Given the description of an element on the screen output the (x, y) to click on. 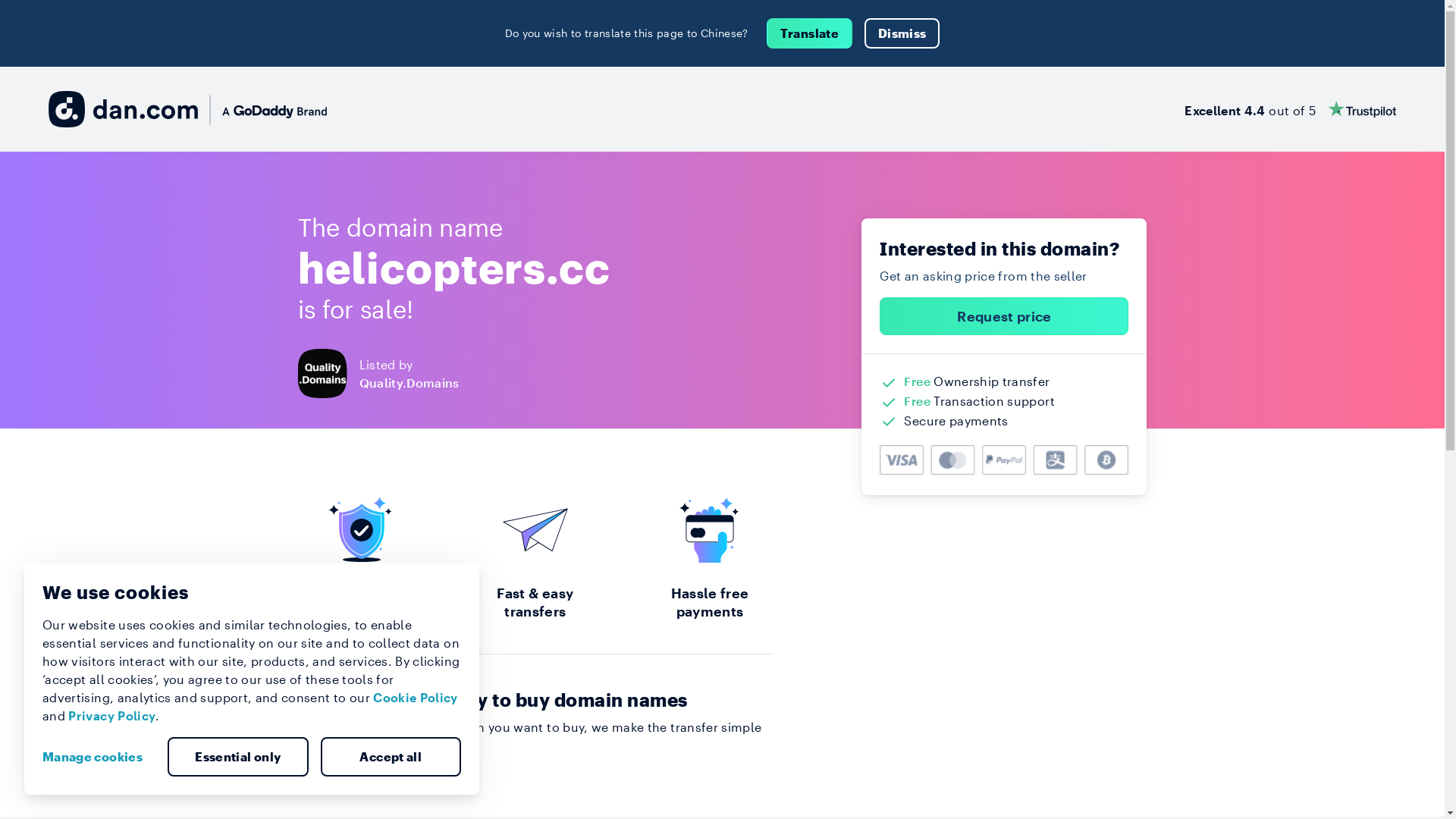
Translate Element type: text (809, 33)
Request price Element type: text (1003, 316)
Accept all Element type: text (390, 756)
Excellent 4.4 out of 5 Element type: text (1290, 109)
Manage cookies Element type: text (98, 756)
Dismiss Element type: text (901, 33)
Essential only Element type: text (237, 756)
Privacy Policy Element type: text (111, 715)
Cookie Policy Element type: text (415, 697)
